Given the description of an element on the screen output the (x, y) to click on. 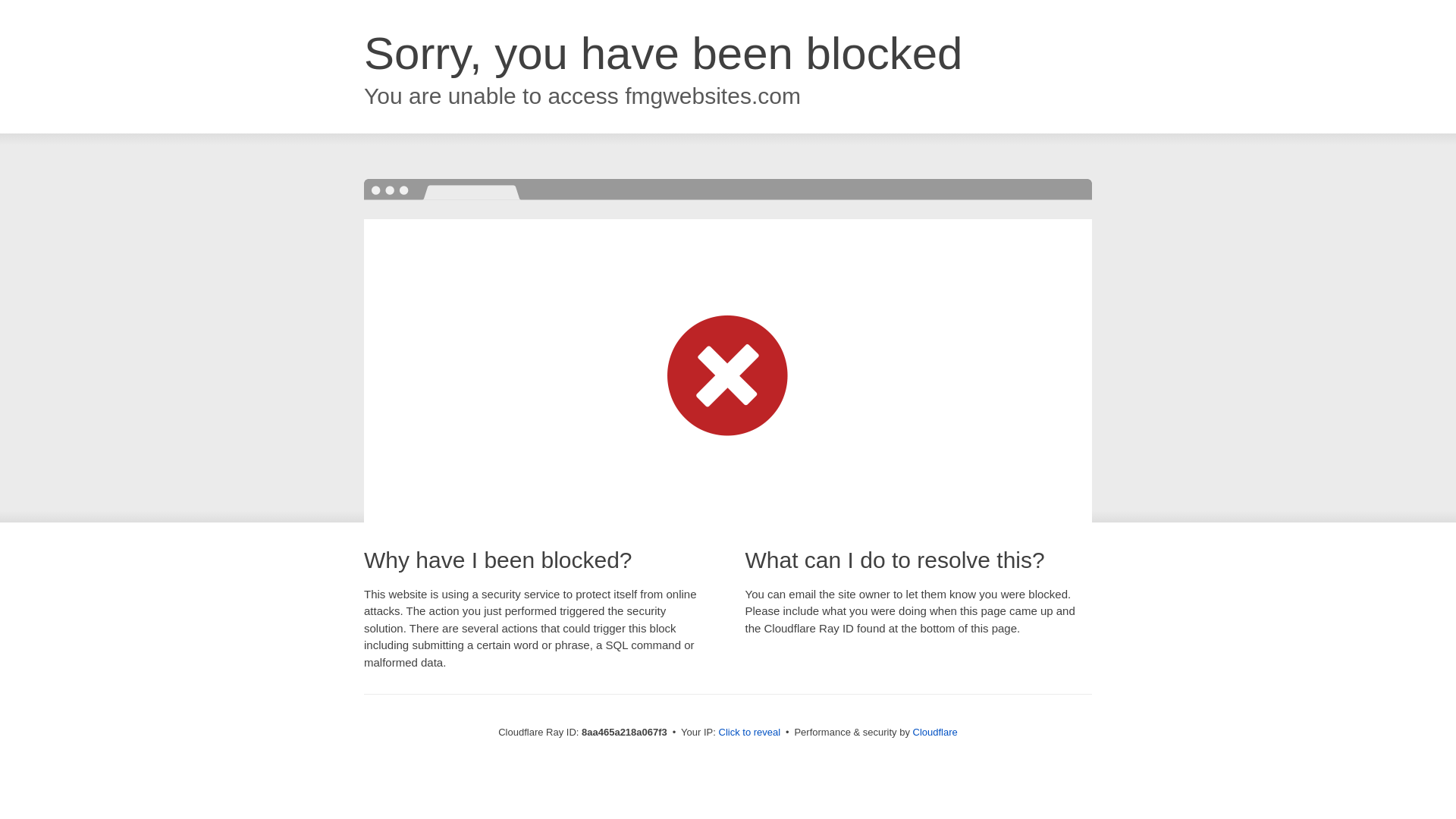
Cloudflare (935, 731)
Click to reveal (749, 732)
